Given the description of an element on the screen output the (x, y) to click on. 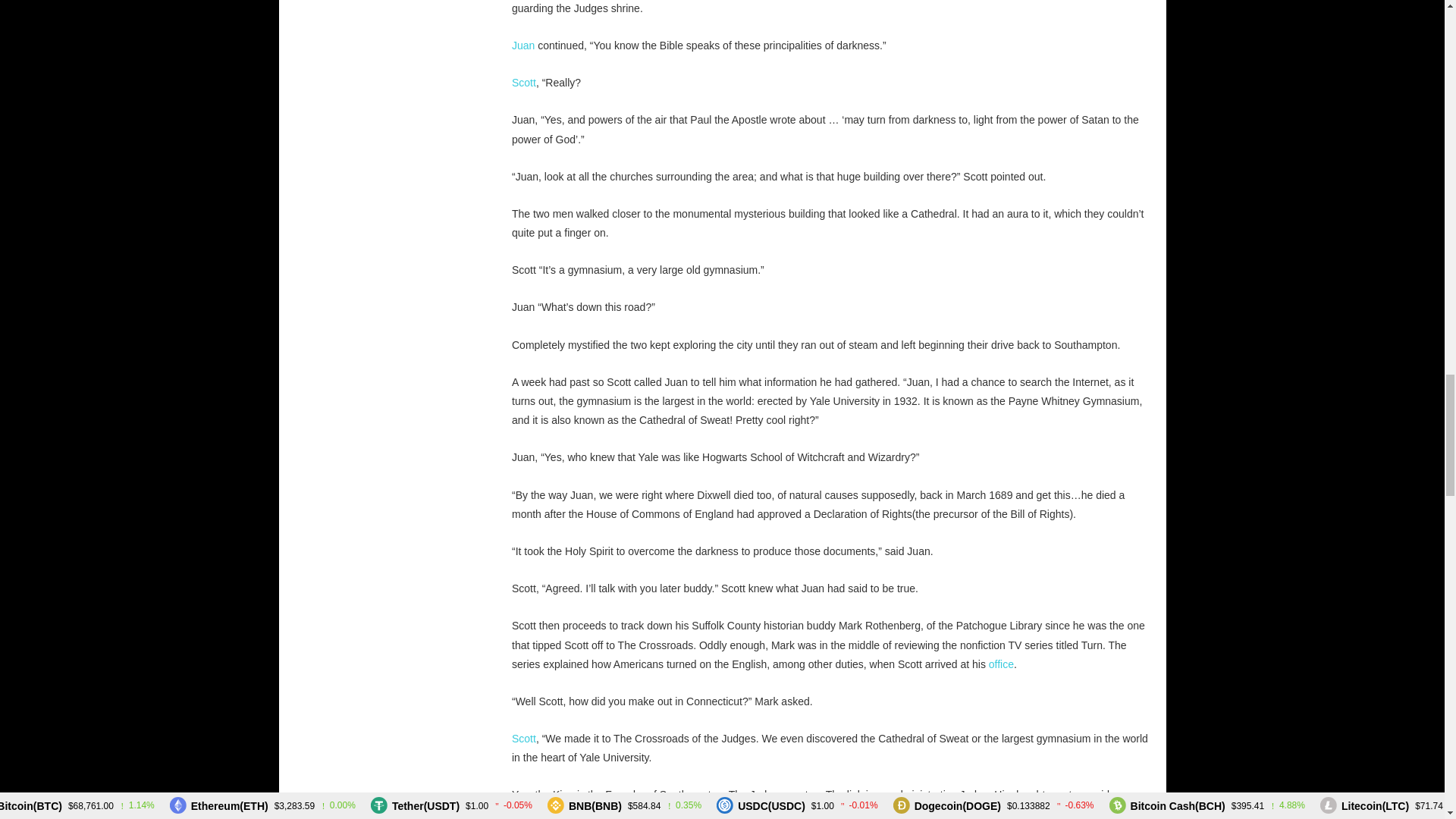
Juan (523, 45)
office (1000, 664)
Scott (523, 738)
Scott (523, 82)
